Given the description of an element on the screen output the (x, y) to click on. 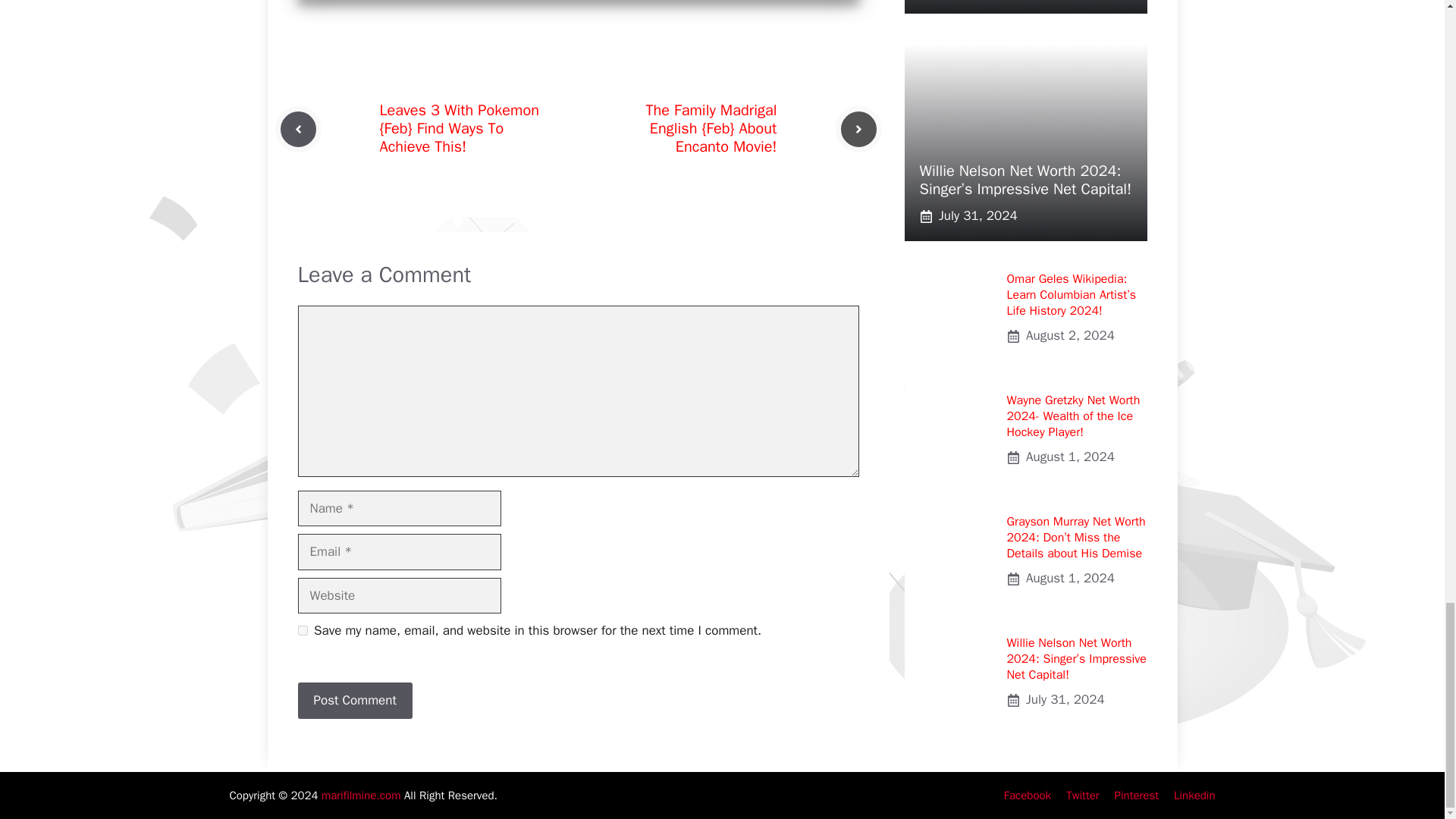
yes (302, 630)
Post Comment (354, 700)
